Given the description of an element on the screen output the (x, y) to click on. 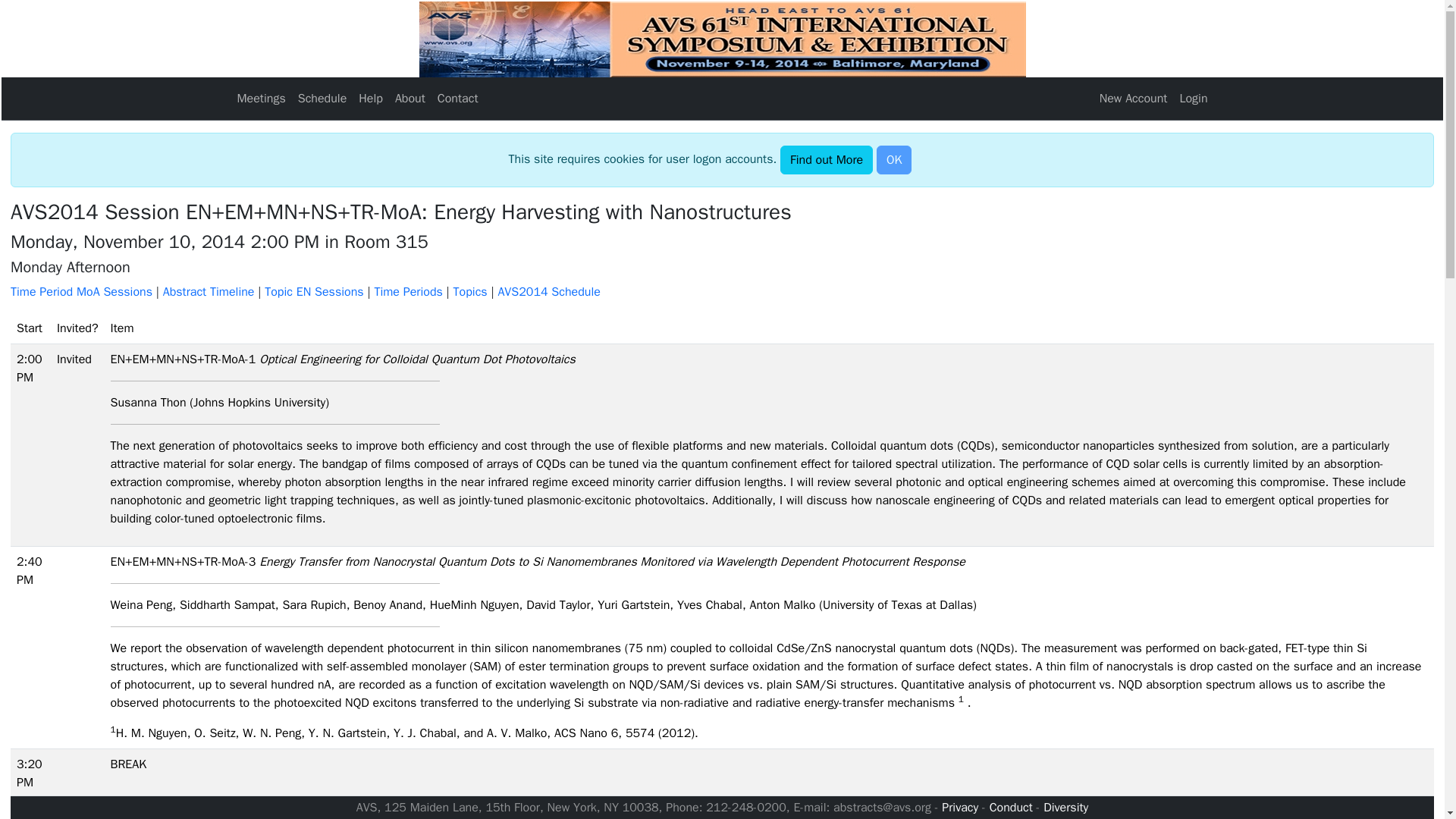
Time Period MoA Sessions (82, 291)
Conduct (1011, 807)
Find out More (826, 159)
AVS2014 Schedule (548, 291)
Topic EN Sessions (313, 291)
OK (893, 159)
Contact (457, 98)
About (409, 98)
Abstract Timeline (208, 291)
Meetings (260, 98)
Diversity (1065, 807)
Schedule (322, 98)
New Account (1133, 98)
Topics (469, 291)
Login (1192, 98)
